Given the description of an element on the screen output the (x, y) to click on. 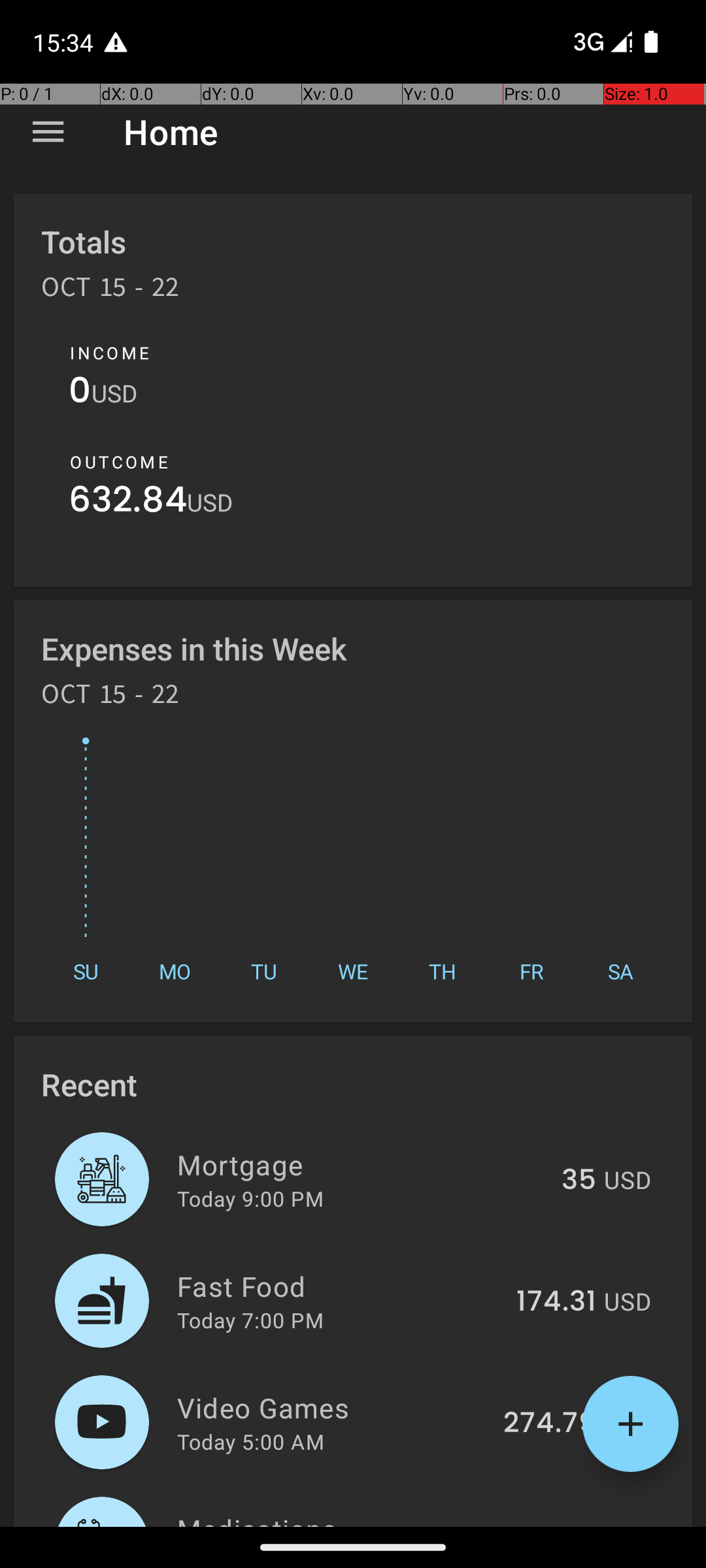
632.84 Element type: android.widget.TextView (127, 502)
Mortgage Element type: android.widget.TextView (361, 1164)
Today 9:00 PM Element type: android.widget.TextView (250, 1198)
Fast Food Element type: android.widget.TextView (339, 1285)
Today 7:00 PM Element type: android.widget.TextView (250, 1320)
174.31 Element type: android.widget.TextView (555, 1301)
Video Games Element type: android.widget.TextView (332, 1407)
Today 5:00 AM Element type: android.widget.TextView (250, 1441)
274.79 Element type: android.widget.TextView (549, 1423)
Medications Element type: android.widget.TextView (334, 1518)
148.74 Element type: android.widget.TextView (551, 1524)
